Given the description of an element on the screen output the (x, y) to click on. 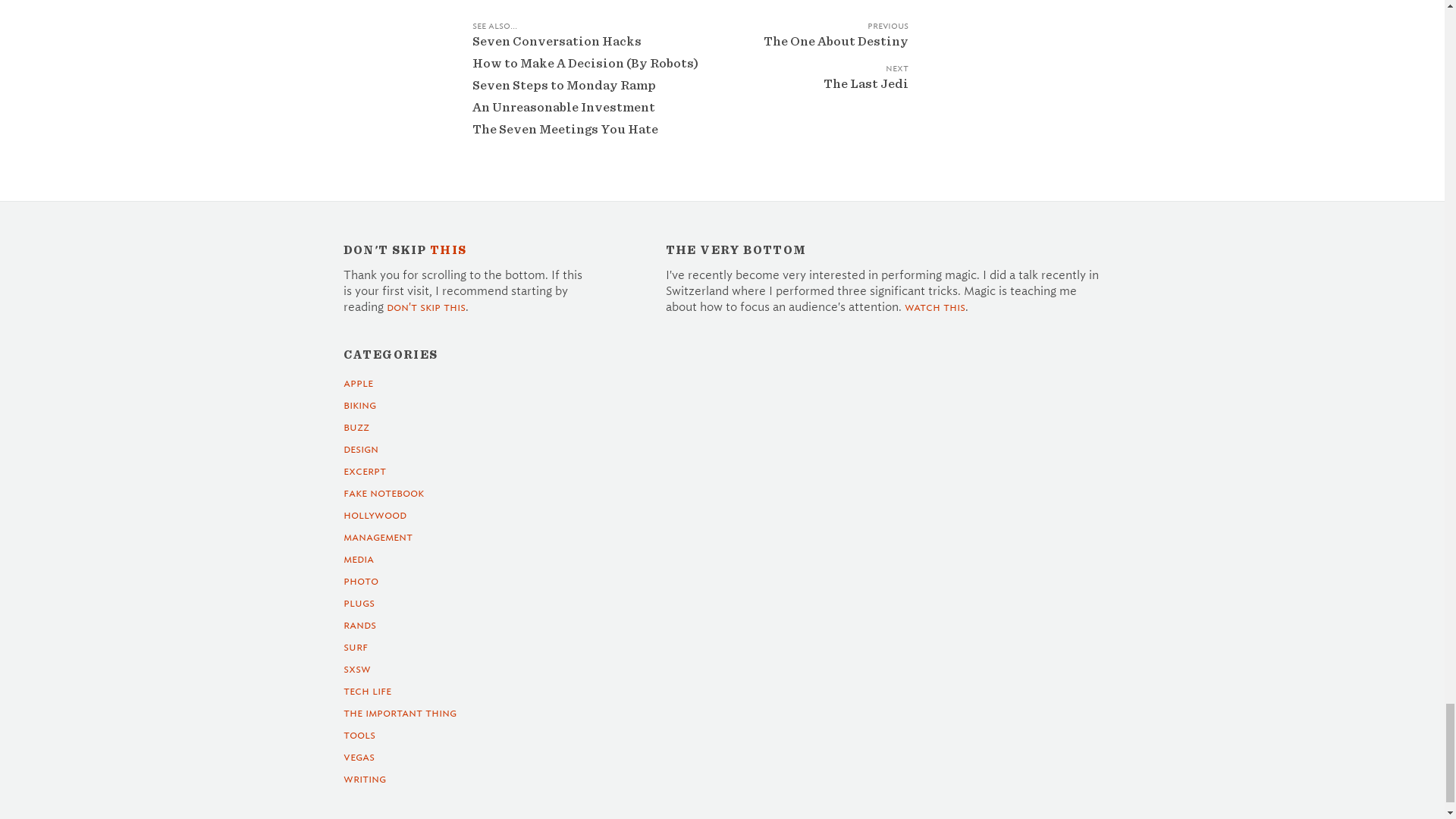
Seven Steps to Monday Ramp (563, 84)
Seven Conversation Hacks (555, 41)
The One About Destiny (818, 51)
The Last Jedi (818, 94)
An Unreasonable Investment (562, 106)
The Seven Meetings You Hate (564, 128)
